Given the description of an element on the screen output the (x, y) to click on. 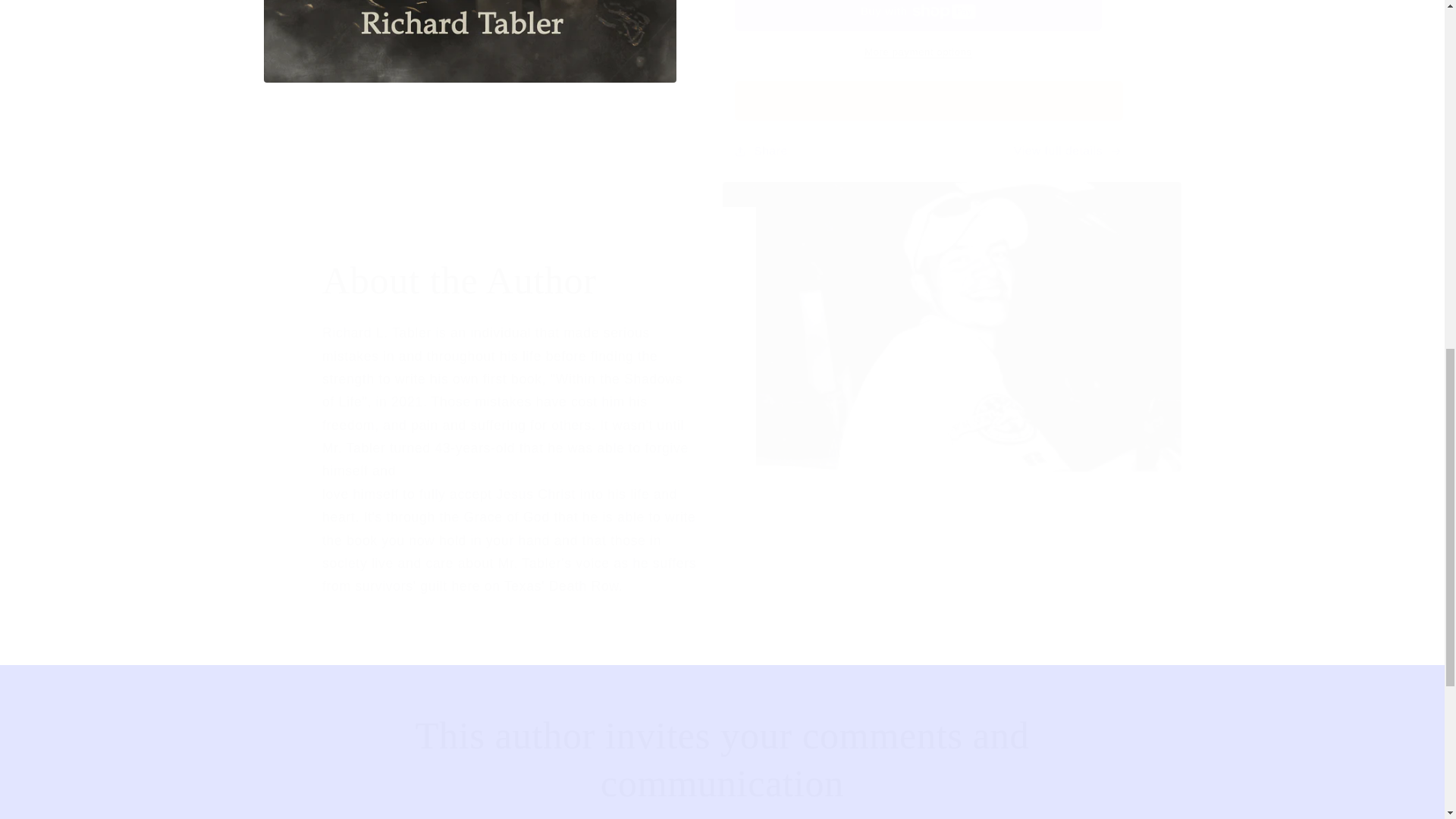
More payment options (918, 51)
Open media 1 in modal (470, 41)
This author invites your comments and communication (722, 759)
Buy on Amazon (928, 99)
Buy on Amazon (928, 100)
View full details (1067, 150)
